Given the description of an element on the screen output the (x, y) to click on. 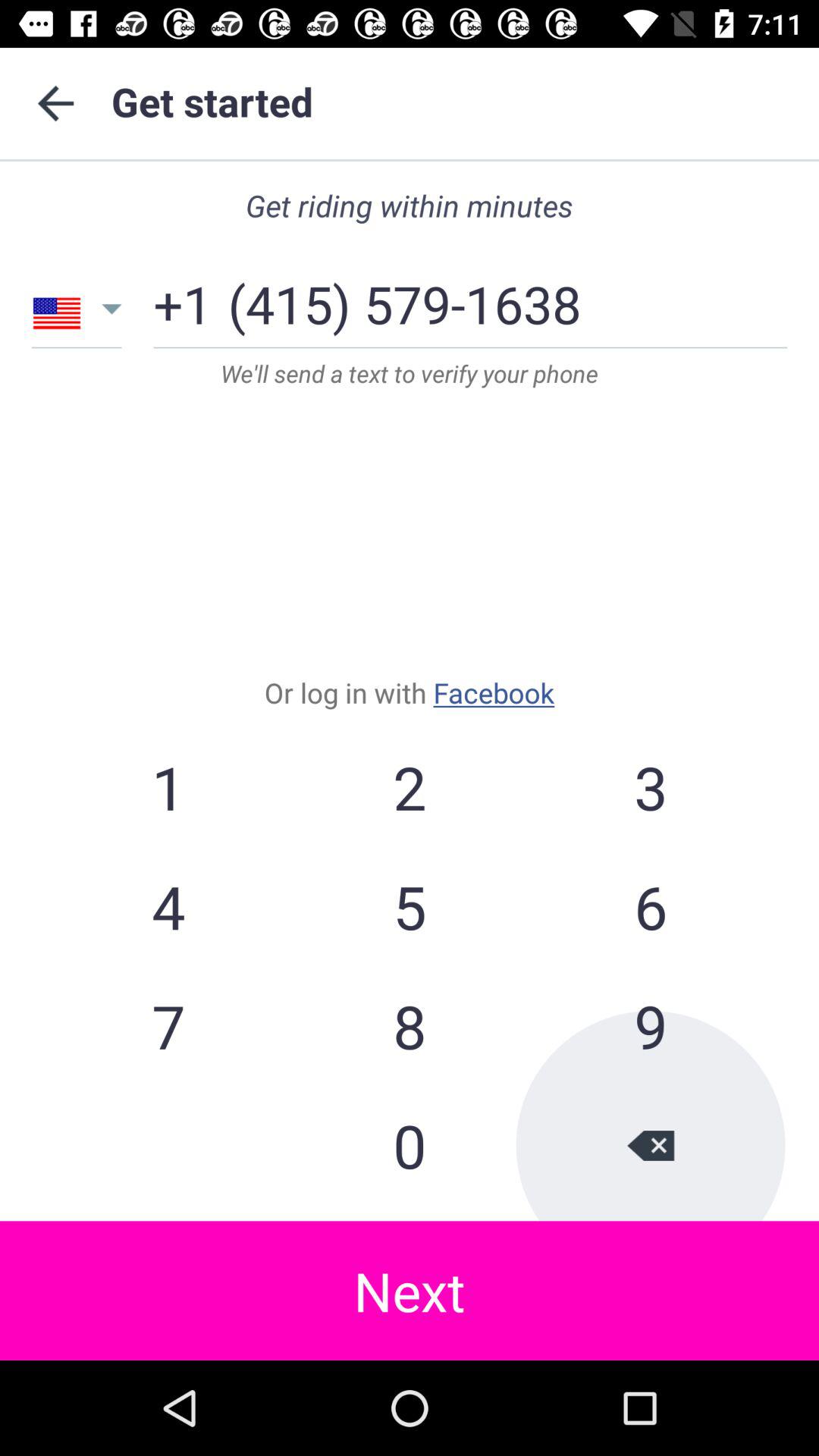
press the 7 (167, 1025)
